Given the description of an element on the screen output the (x, y) to click on. 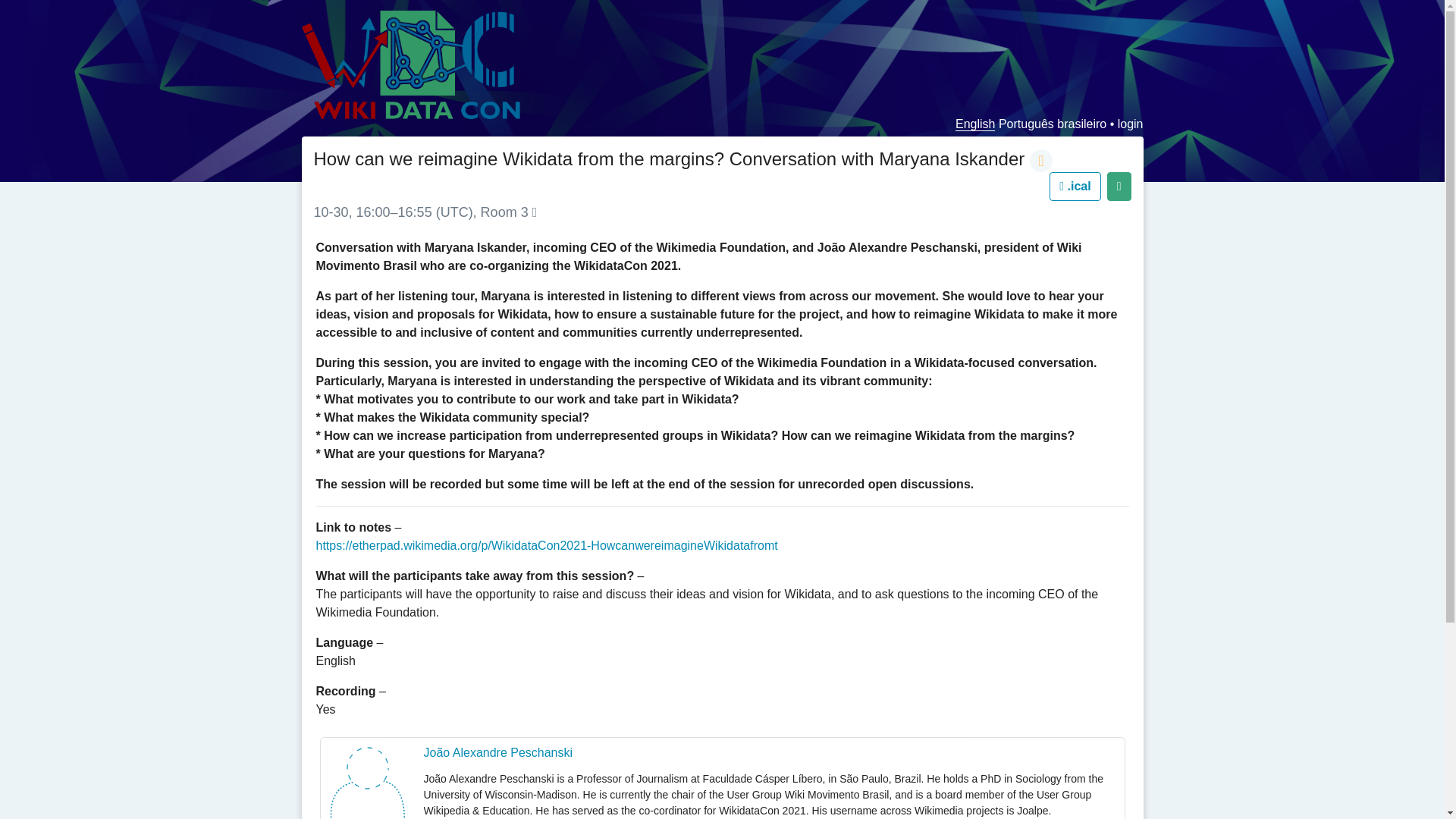
login (1130, 124)
.ical (1074, 185)
English (974, 124)
